Given the description of an element on the screen output the (x, y) to click on. 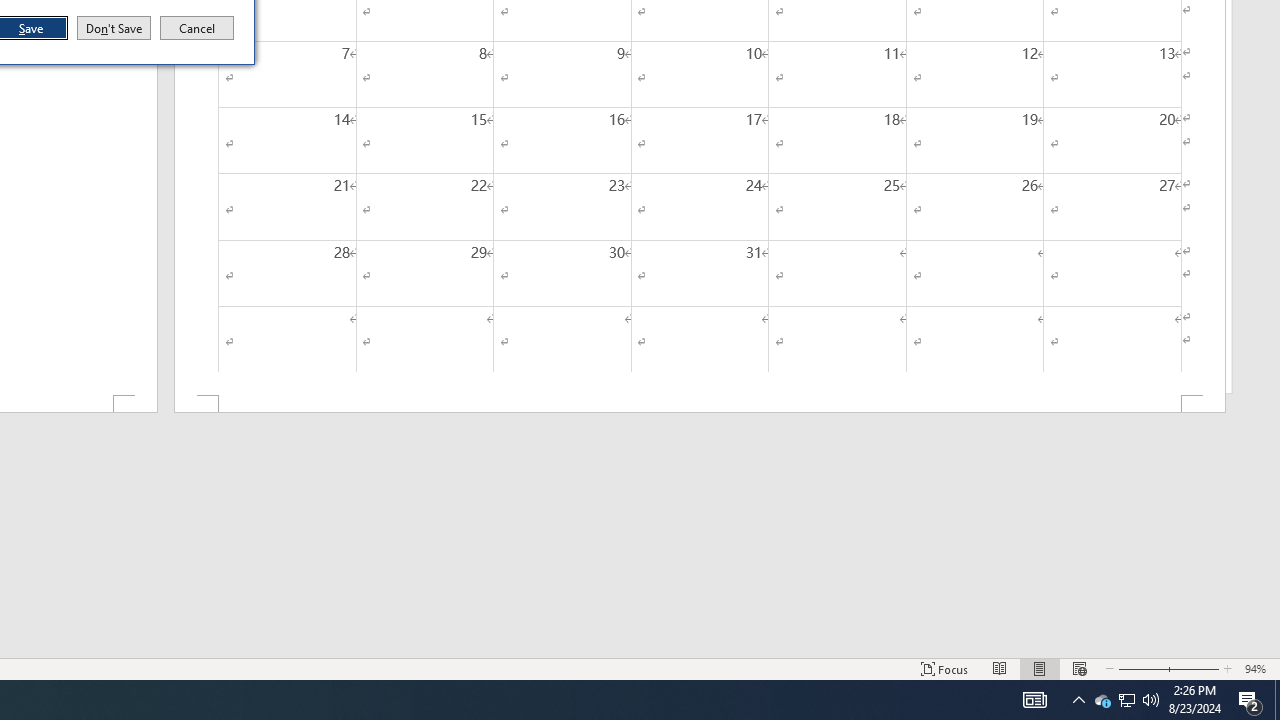
Don't Save (113, 27)
User Promoted Notification Area (1126, 699)
Show desktop (1126, 699)
